Given the description of an element on the screen output the (x, y) to click on. 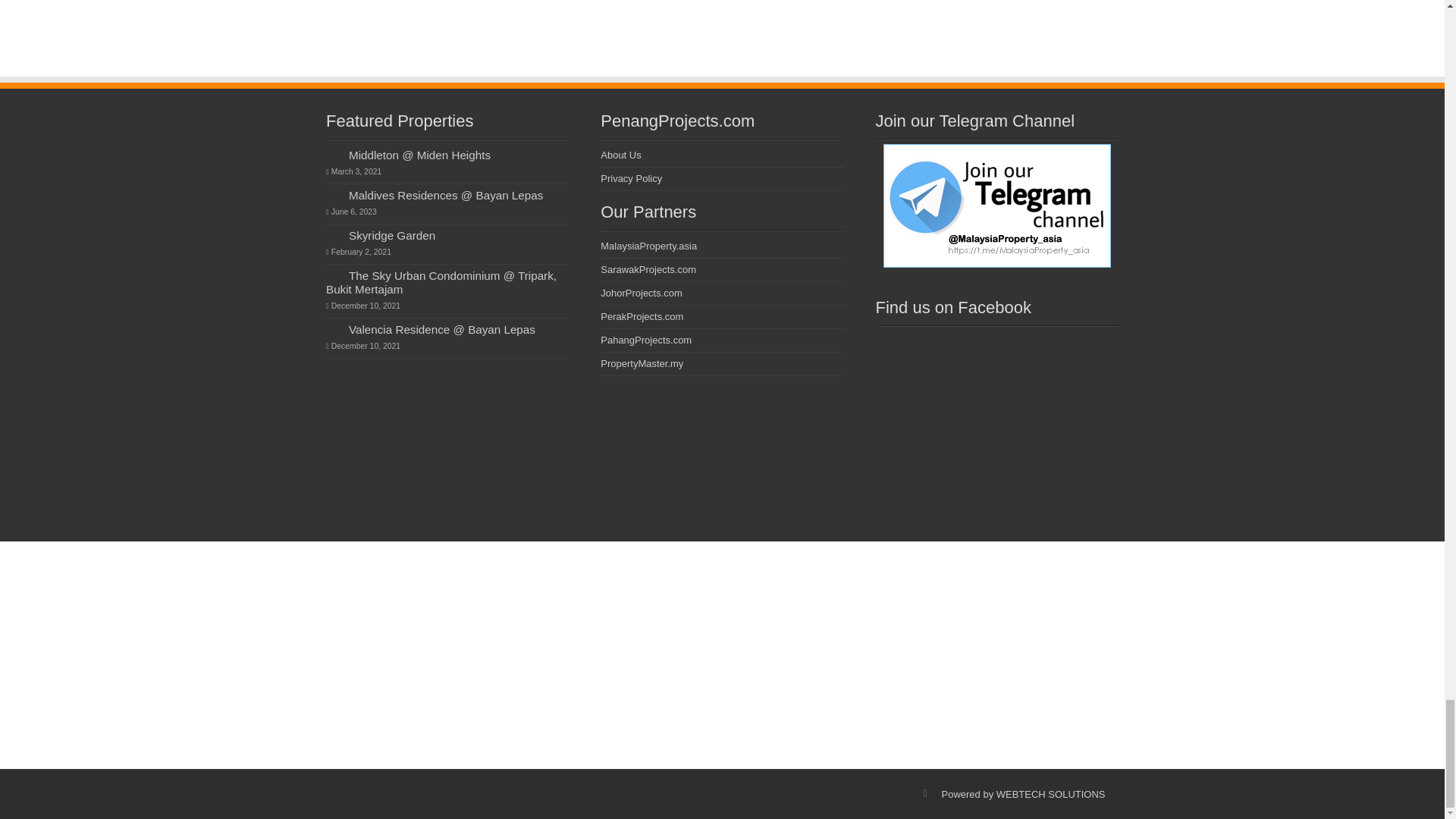
Rss (924, 793)
Skyridge Garden (392, 235)
